Given the description of an element on the screen output the (x, y) to click on. 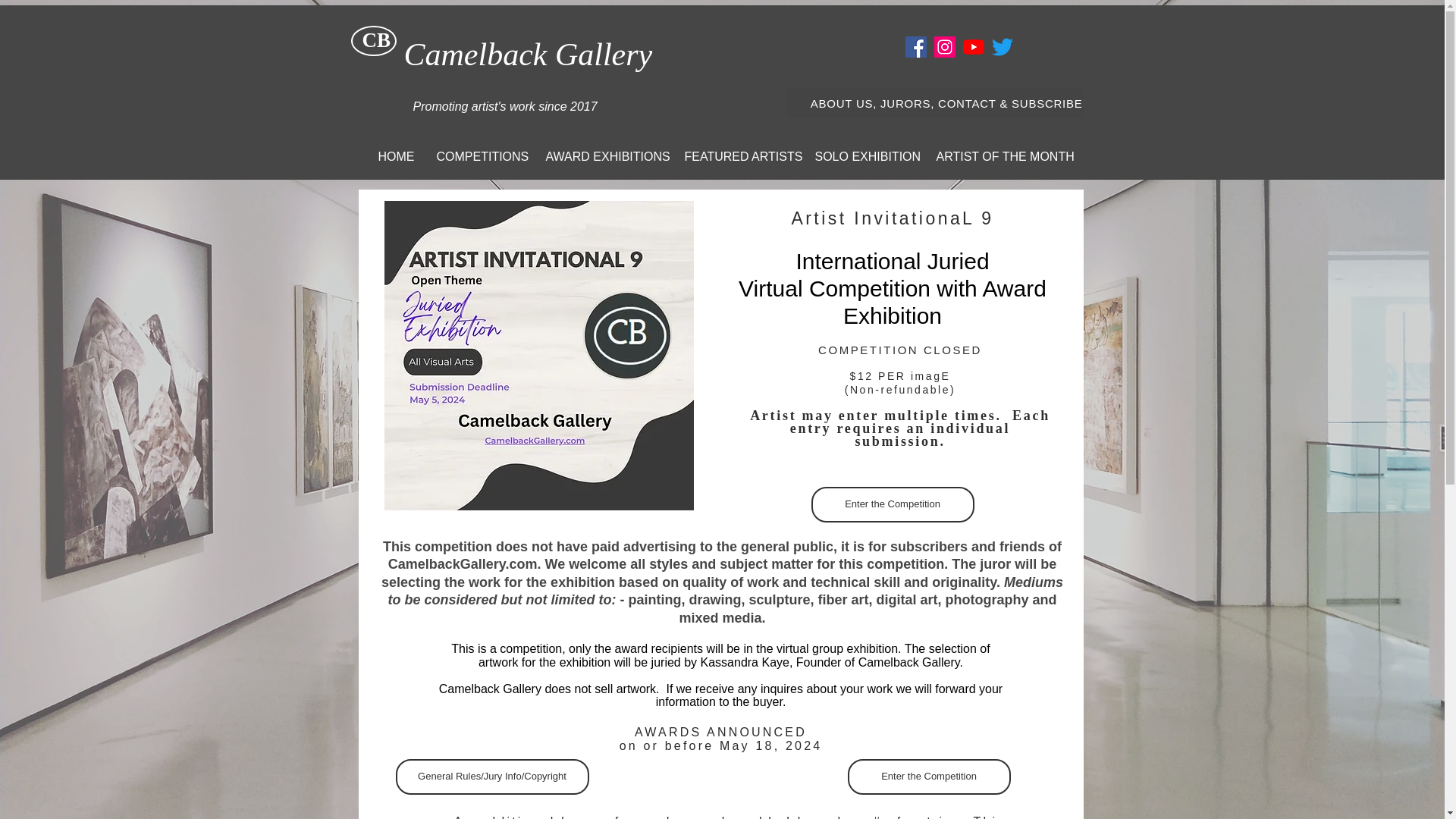
HOME (395, 156)
ARTIST OF THE MONTH (1001, 156)
COMPETITIONS (479, 156)
SOLO EXHIBITION (863, 156)
AWARD EXHIBITIONS (603, 156)
Camelback Gallery (527, 54)
CB (376, 39)
FEATURED ARTISTS (737, 156)
